Given the description of an element on the screen output the (x, y) to click on. 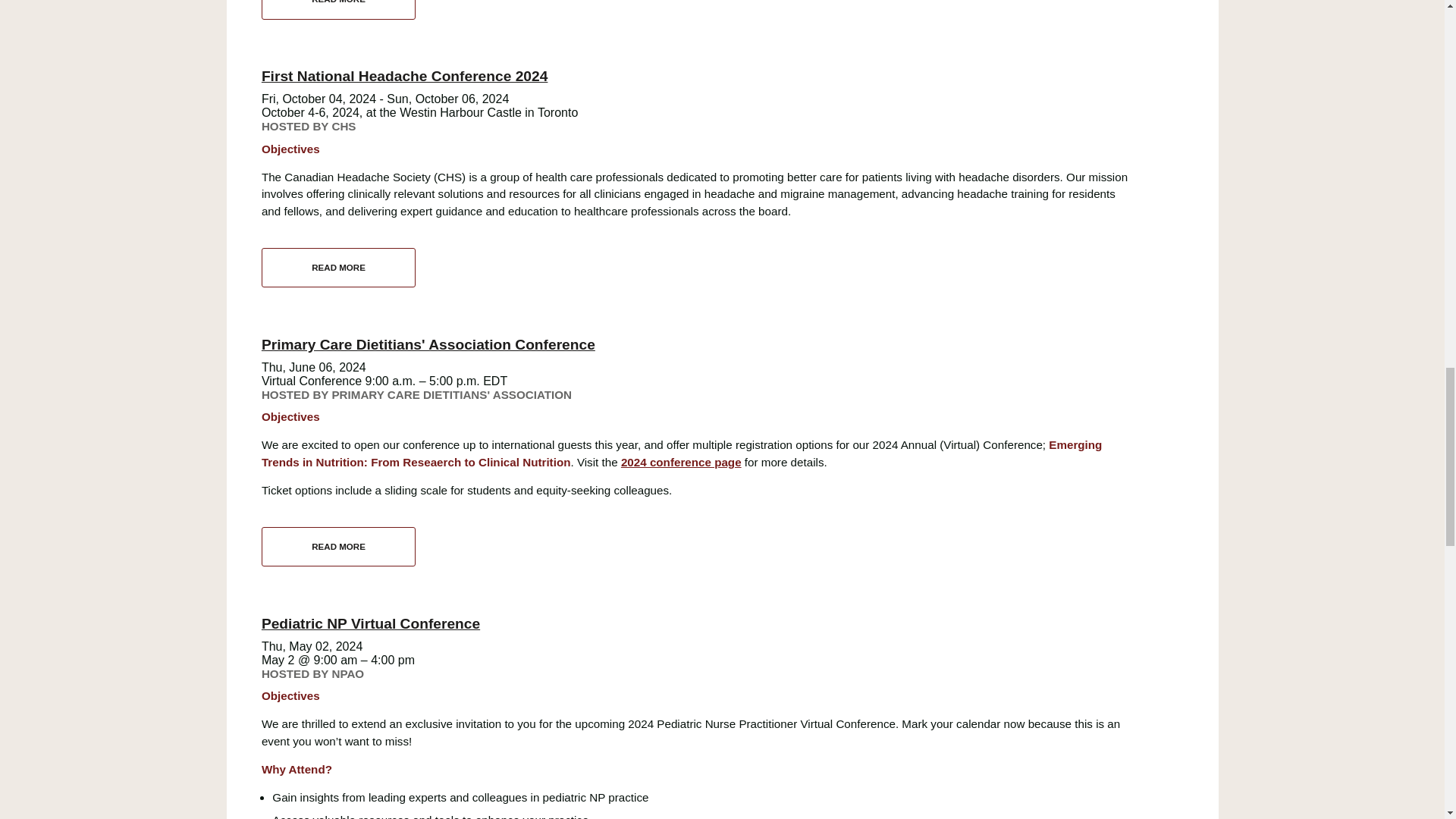
First National Headache Conference 2024 (338, 267)
Pediatric NP Virtual Conference (371, 623)
First National Headache Conference 2024 (405, 75)
Primary Care Dietitians' Association Conference (338, 546)
DermInsight Symposium 2024 (338, 9)
2024 conference page (338, 9)
Primary Care Dietitians' Association Conference (681, 461)
